Given the description of an element on the screen output the (x, y) to click on. 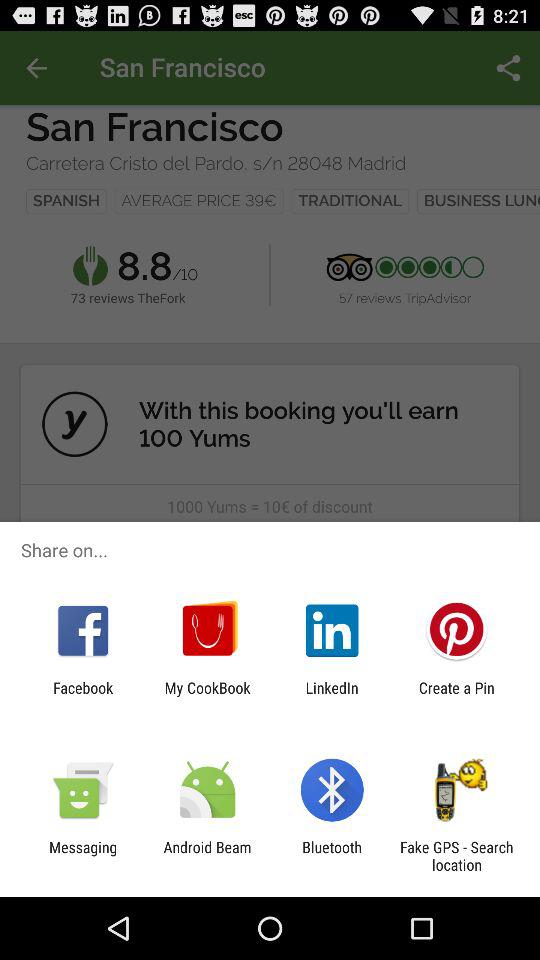
open item next to the fake gps search item (331, 856)
